Given the description of an element on the screen output the (x, y) to click on. 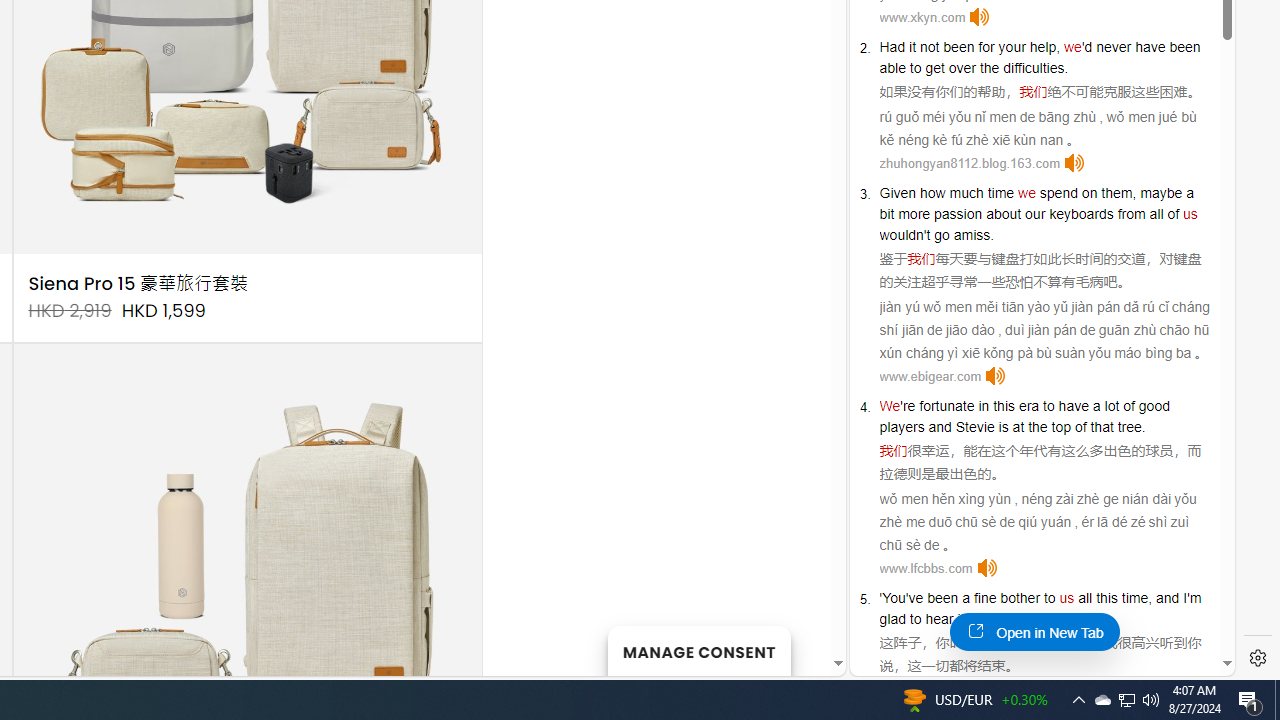
glad (892, 619)
on (1089, 192)
bother (1019, 597)
Click to listen (986, 568)
amiss (971, 234)
fortunate (947, 405)
and (940, 426)
time (1000, 192)
